Given the description of an element on the screen output the (x, y) to click on. 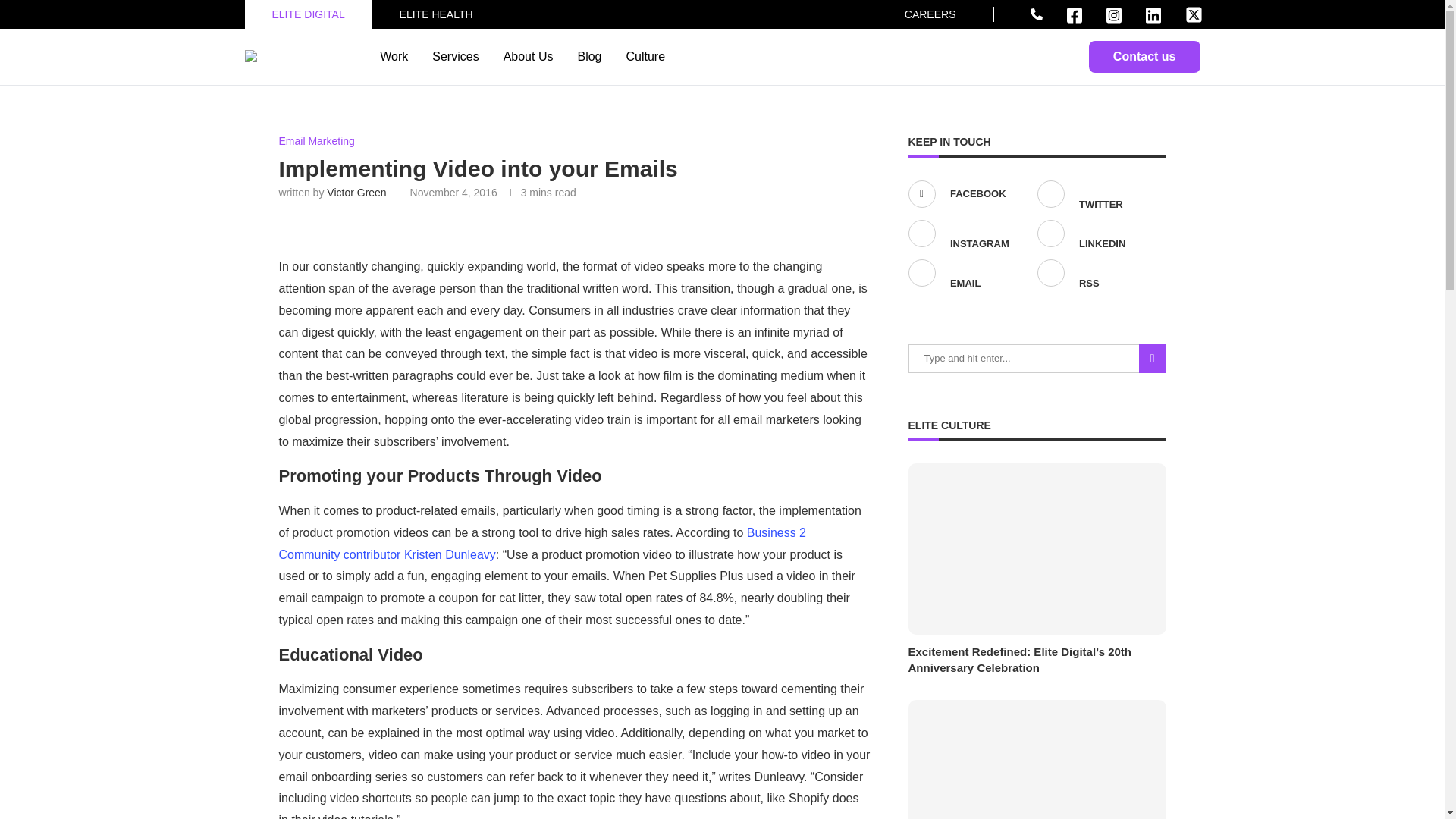
Contact us (1144, 56)
ELITE DIGITAL (306, 14)
Work (393, 56)
Culture (645, 56)
Business 2 Community contributor Kristen Dunleavy (542, 543)
About Us (528, 56)
Victor Green (355, 192)
Blog (588, 56)
Services (455, 56)
CAREERS (929, 14)
Email Marketing (317, 141)
ELITE HEALTH (435, 14)
